Given the description of an element on the screen output the (x, y) to click on. 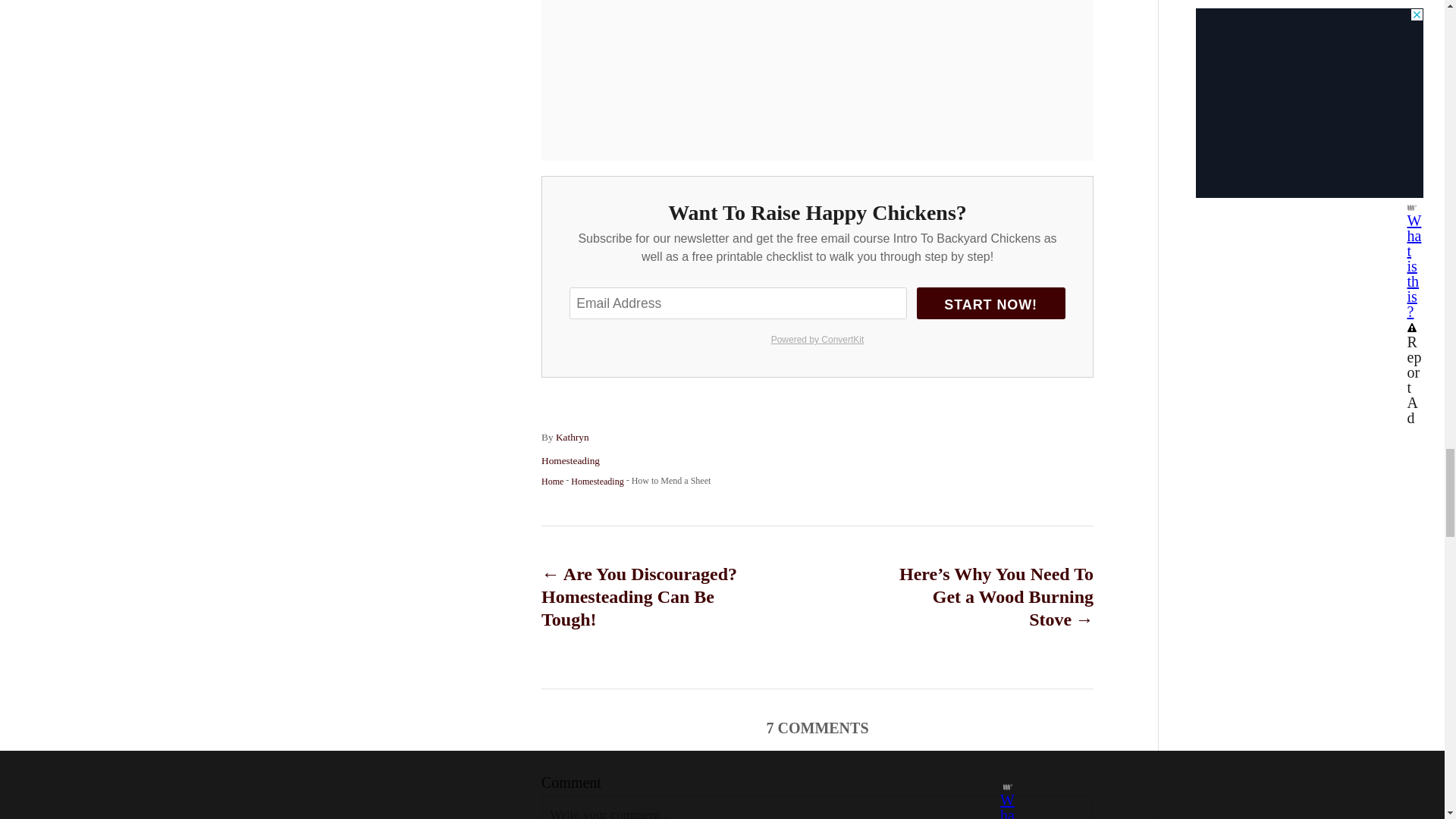
Are You Discouraged? Homesteading Can Be Tough! (651, 596)
Homesteading (570, 460)
Home (552, 480)
START NOW! (991, 303)
Kathryn (572, 437)
Homesteading (596, 480)
Powered by ConvertKit (816, 339)
